Given the description of an element on the screen output the (x, y) to click on. 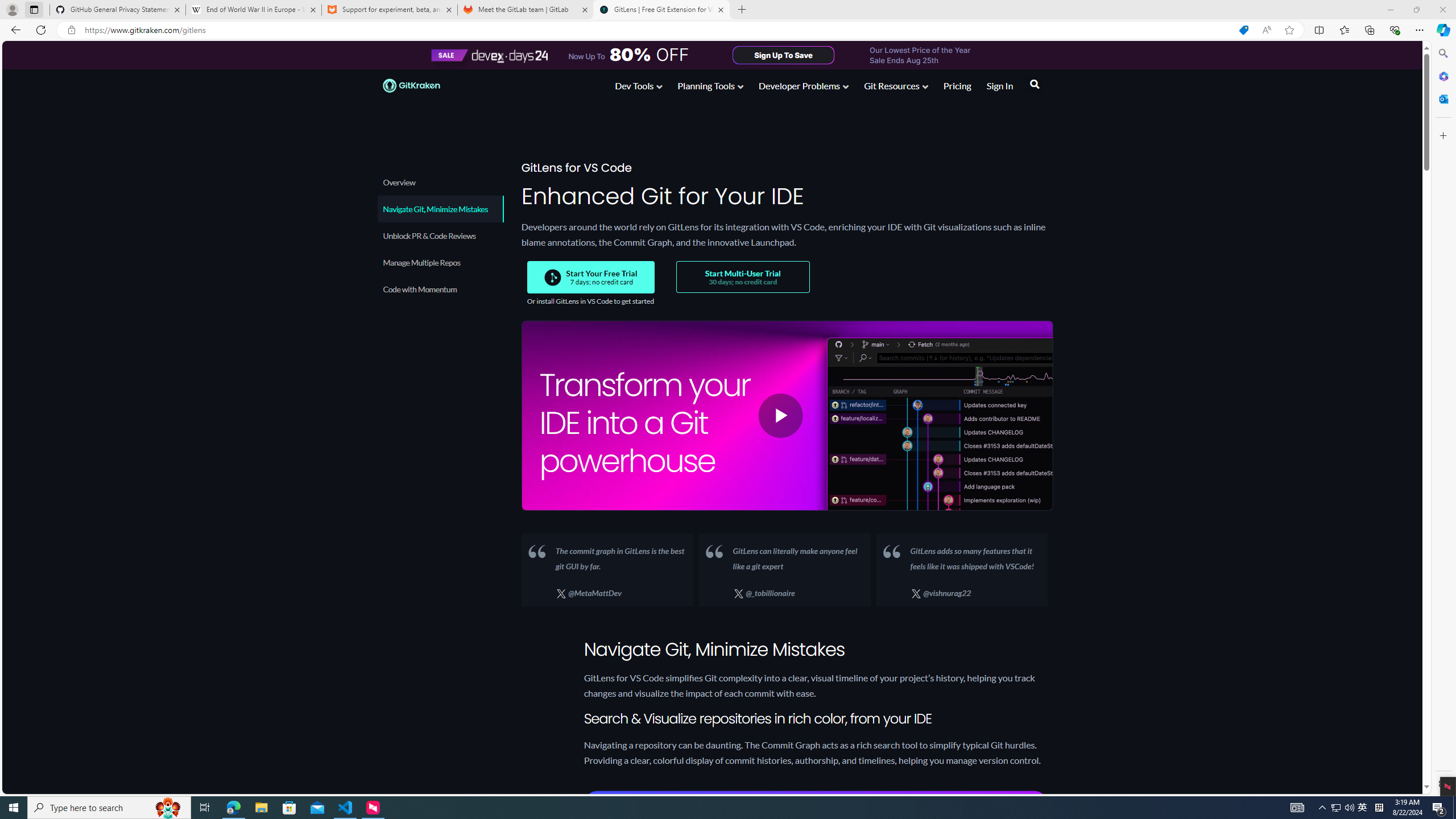
Start Multi-User Trial 30 days; no credit card (742, 277)
Manage Multiple Repos (440, 262)
